Given the description of an element on the screen output the (x, y) to click on. 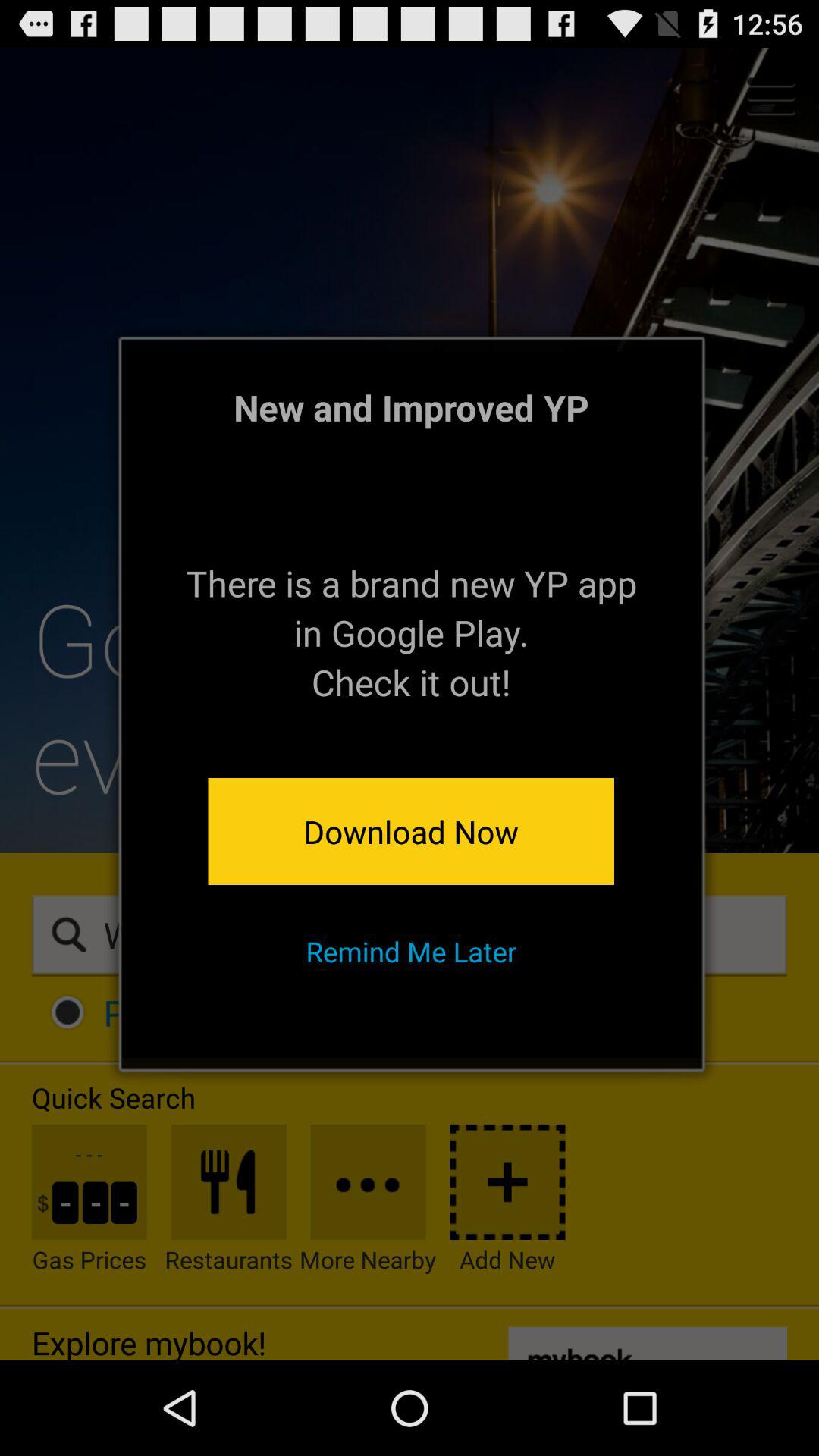
turn on the remind me later item (411, 951)
